Given the description of an element on the screen output the (x, y) to click on. 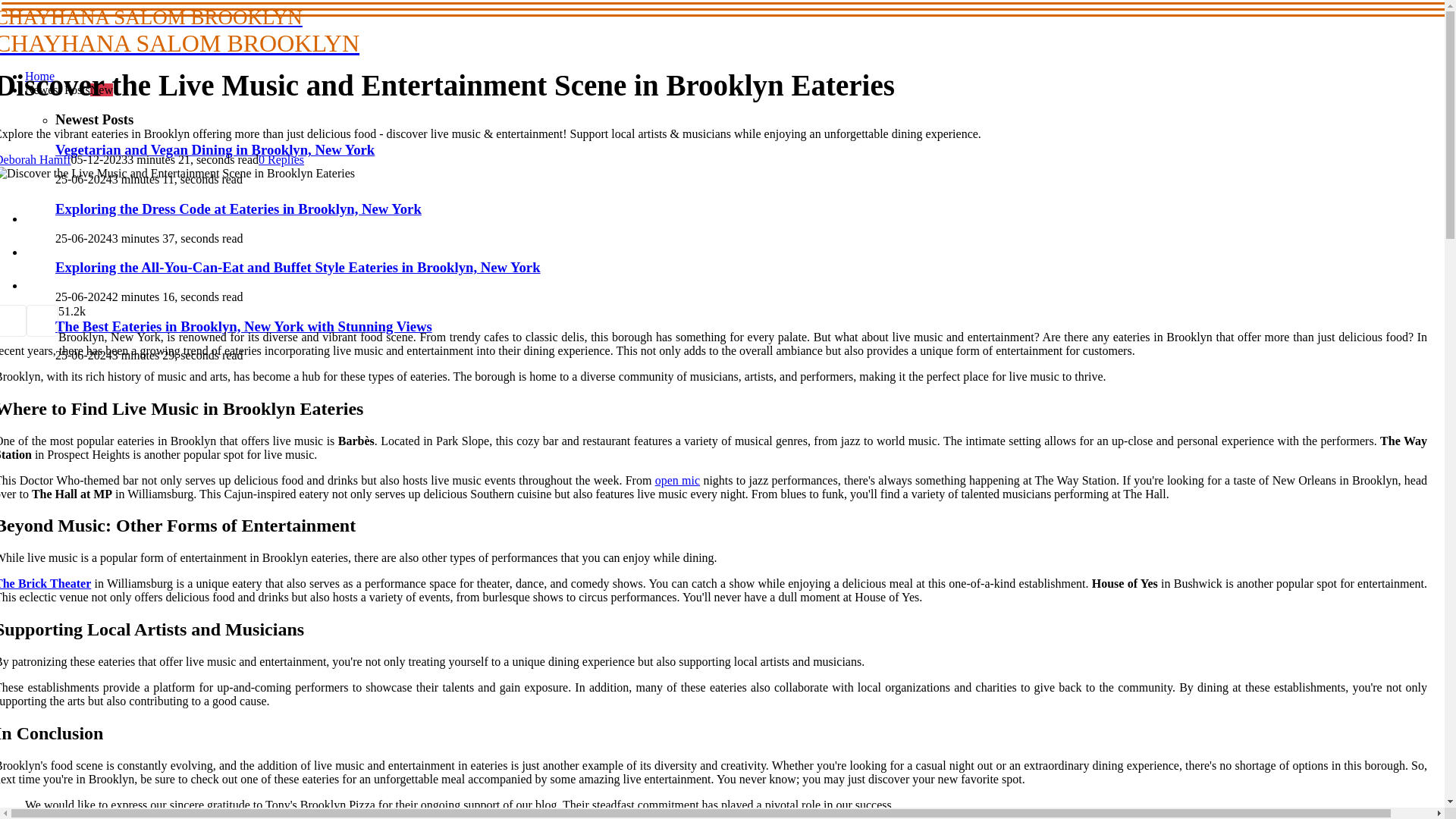
Posts by Deborah Hamff (35, 159)
open mic (677, 480)
Home (39, 75)
Deborah Hamff (35, 159)
The Best Eateries in Brooklyn, New York with Stunning Views (243, 326)
0 Replies (270, 31)
The Brick Theater (281, 159)
Vegetarian and Vegan Dining in Brooklyn, New York (45, 583)
Newest PostsNew (214, 149)
